Given the description of an element on the screen output the (x, y) to click on. 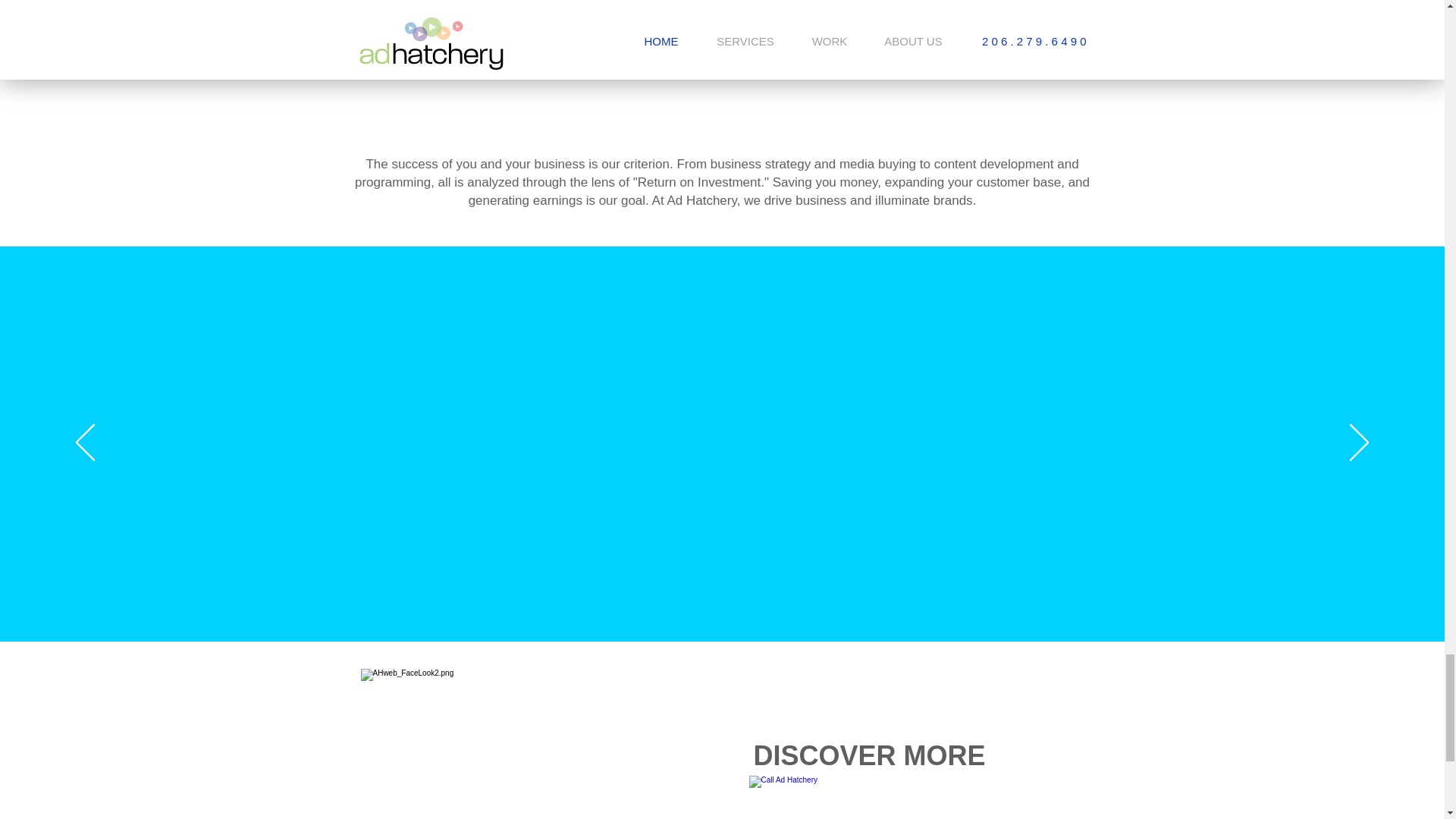
Call 206-279-6490 (869, 797)
